Given the description of an element on the screen output the (x, y) to click on. 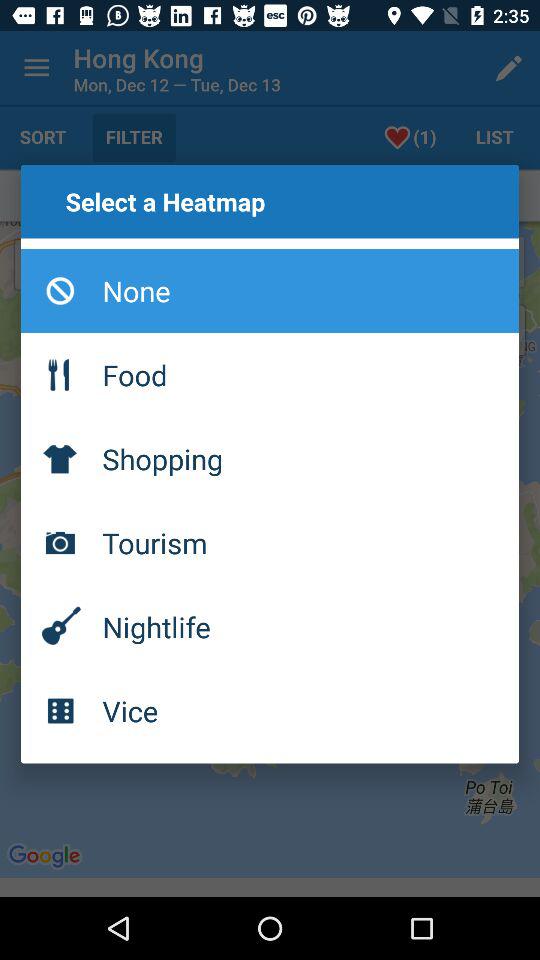
select icon below the nightlife icon (270, 710)
